Given the description of an element on the screen output the (x, y) to click on. 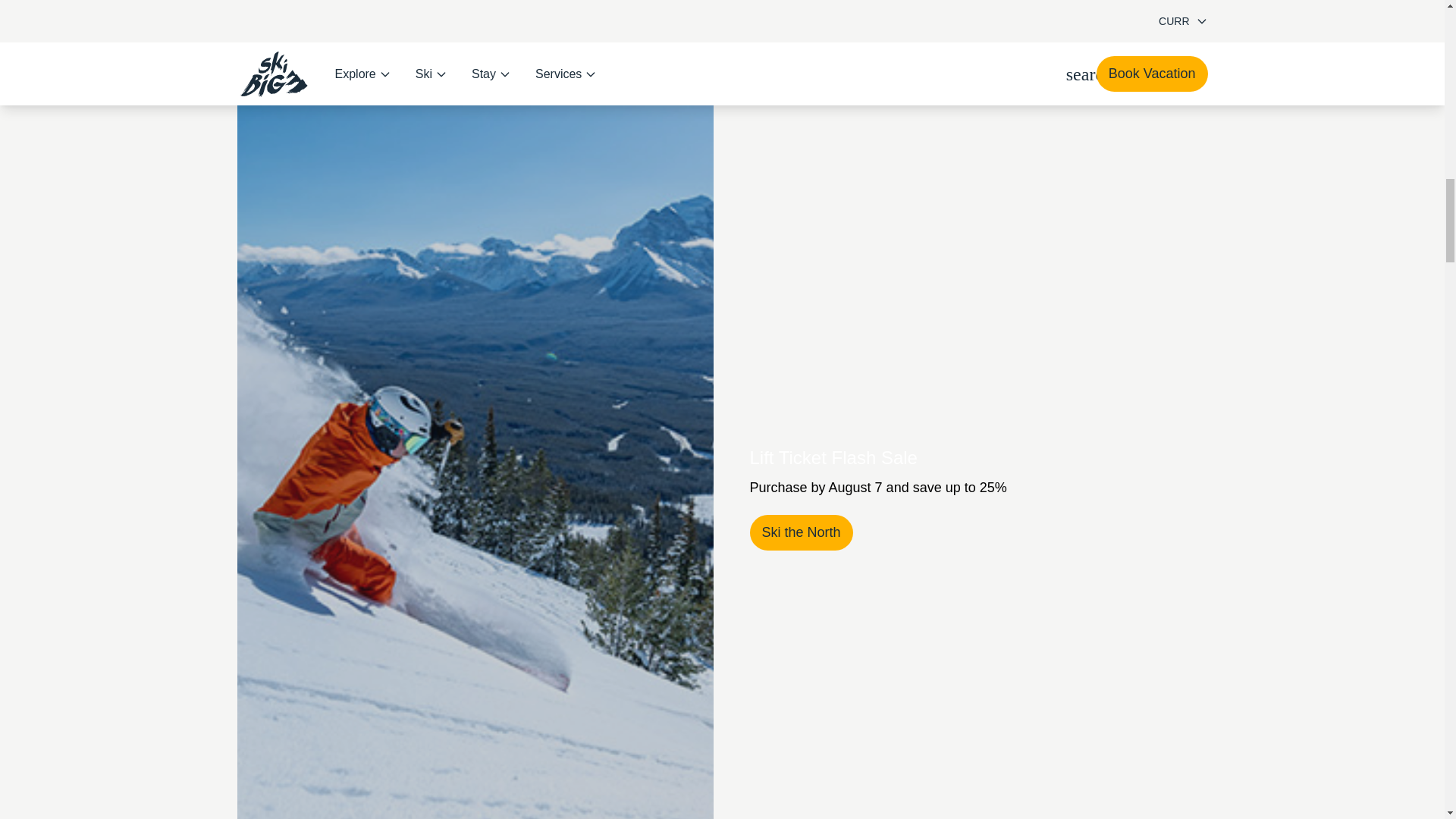
Ski the North (800, 532)
Ski the North (800, 532)
